Given the description of an element on the screen output the (x, y) to click on. 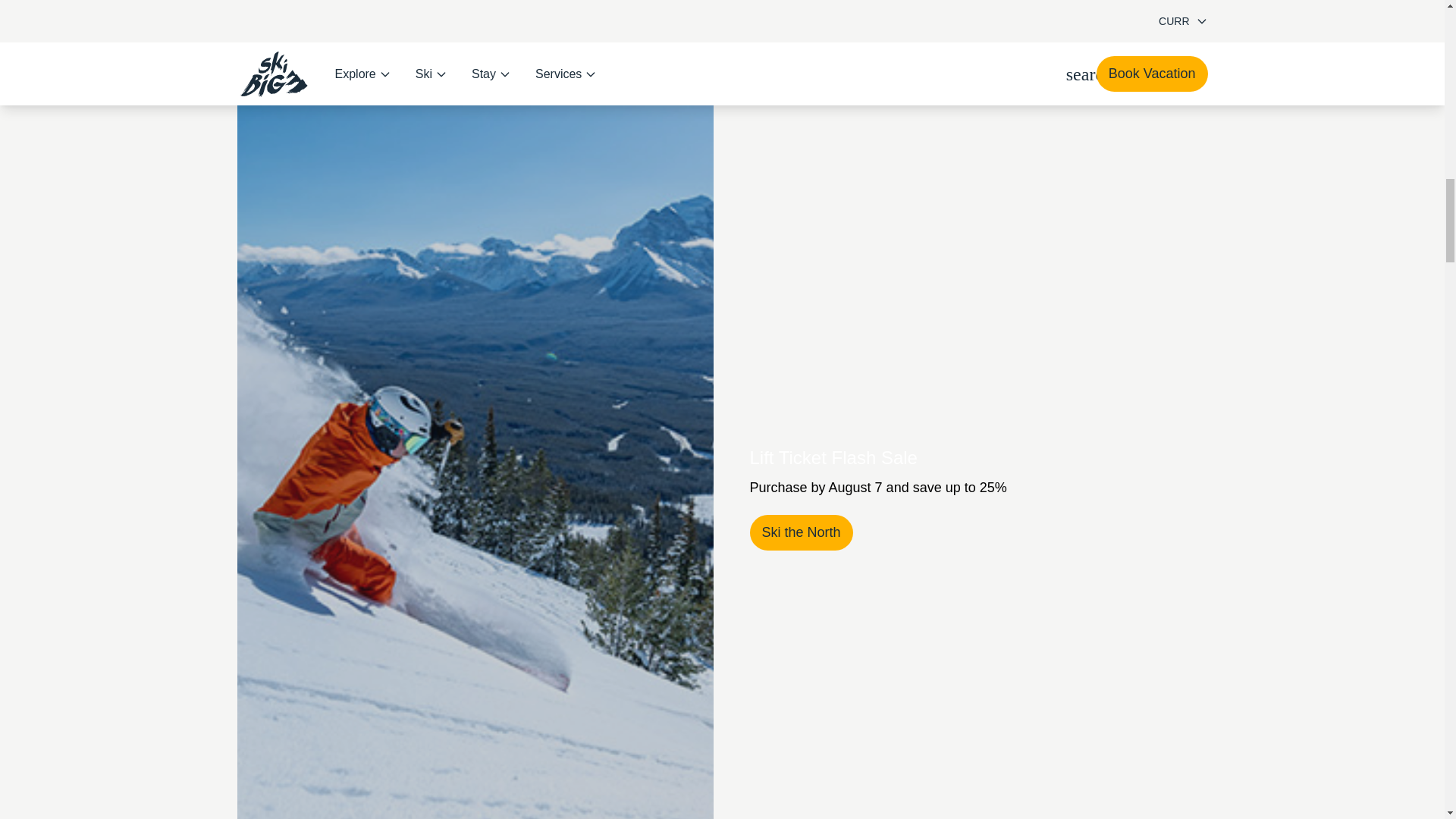
Ski the North (800, 532)
Ski the North (800, 532)
